Given the description of an element on the screen output the (x, y) to click on. 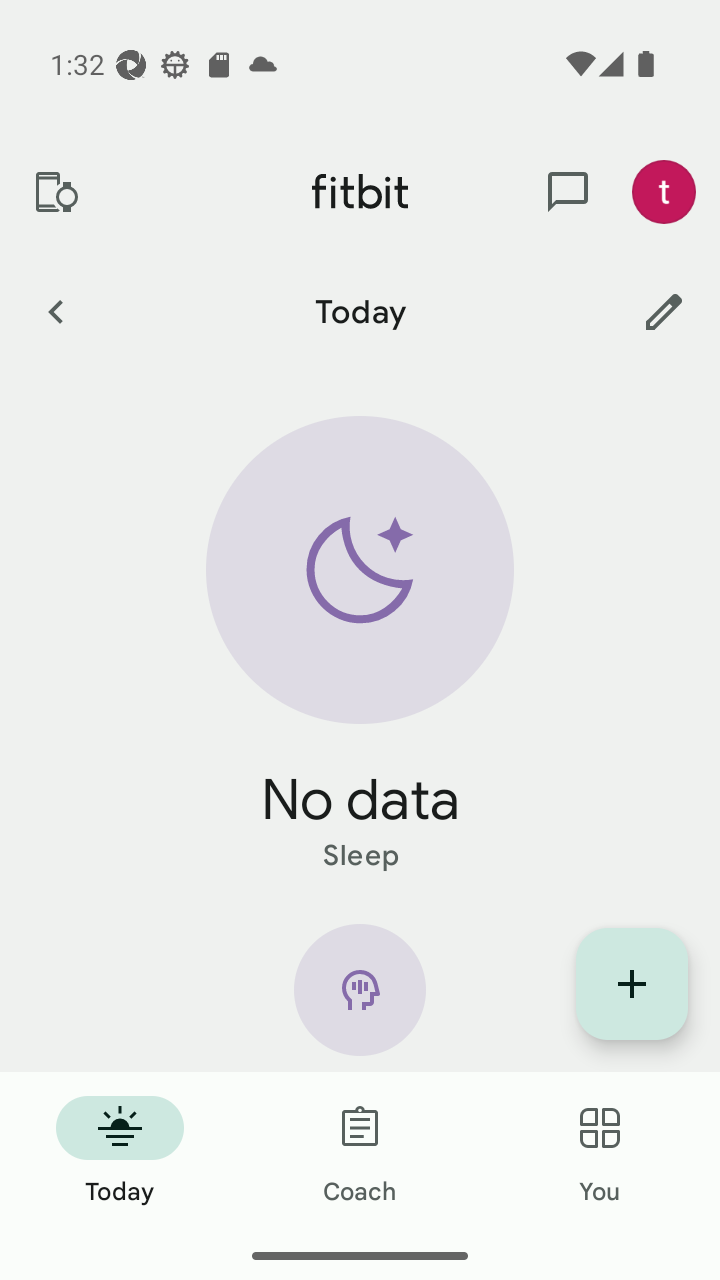
Devices and apps (55, 191)
messages and notifications (567, 191)
Previous Day (55, 311)
Customize (664, 311)
Sleep static hero arc No data Sleep (359, 645)
Mindfulness icon (360, 998)
Display list of quick log entries (632, 983)
Coach (359, 1151)
You (600, 1151)
